Given the description of an element on the screen output the (x, y) to click on. 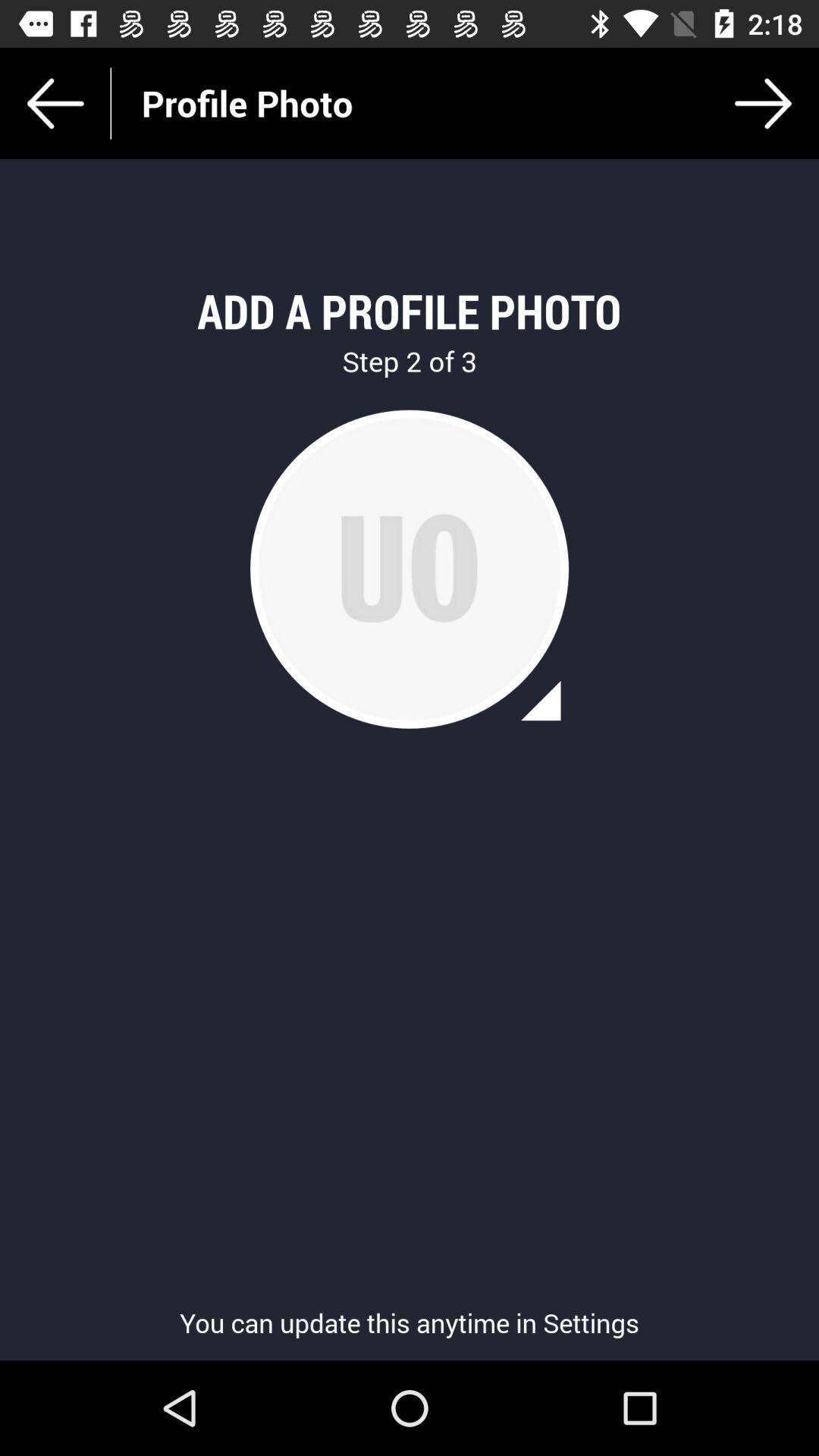
press item next to profile photo item (763, 103)
